Given the description of an element on the screen output the (x, y) to click on. 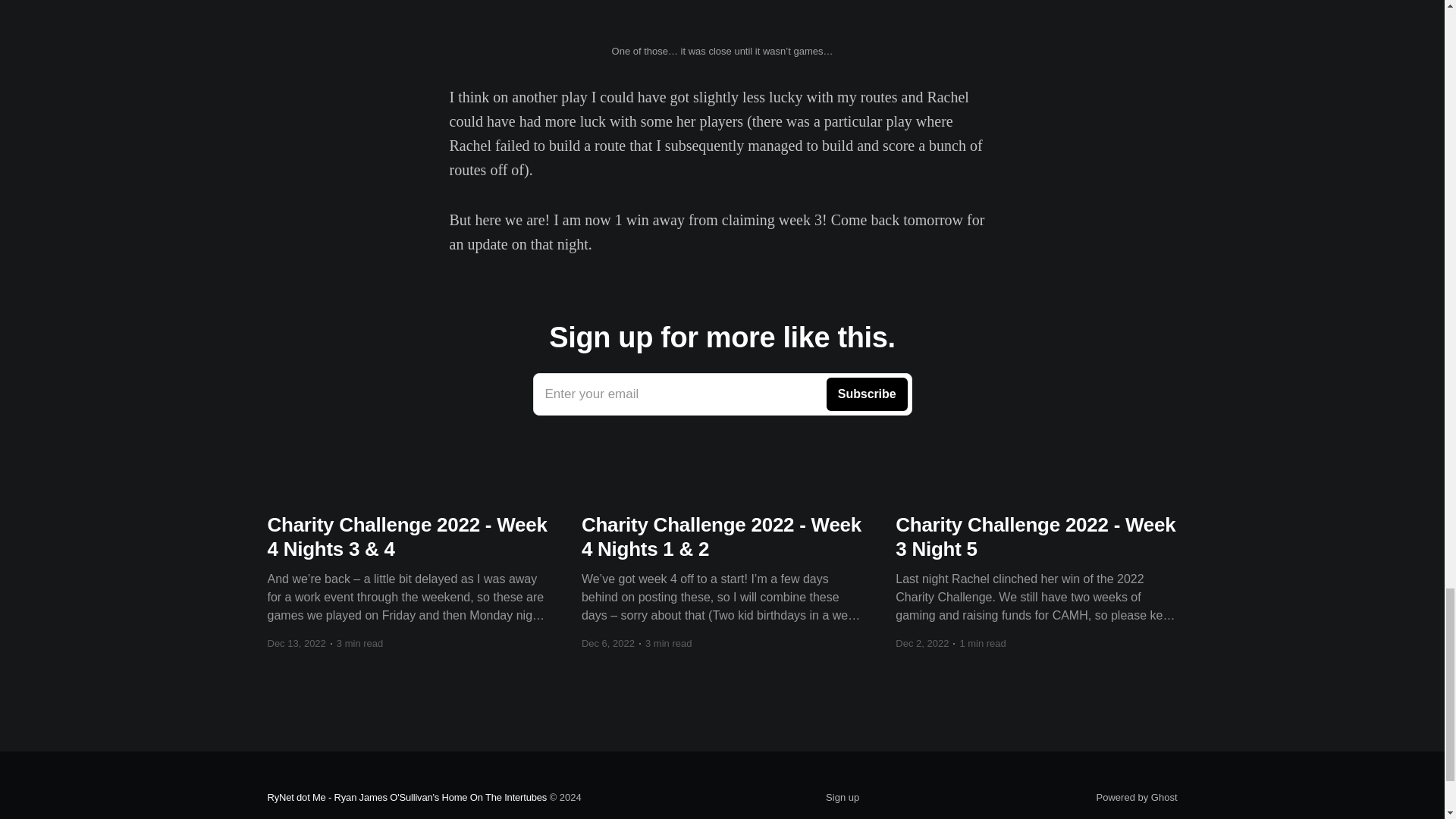
Sign up (721, 394)
Powered by Ghost (842, 797)
